Given the description of an element on the screen output the (x, y) to click on. 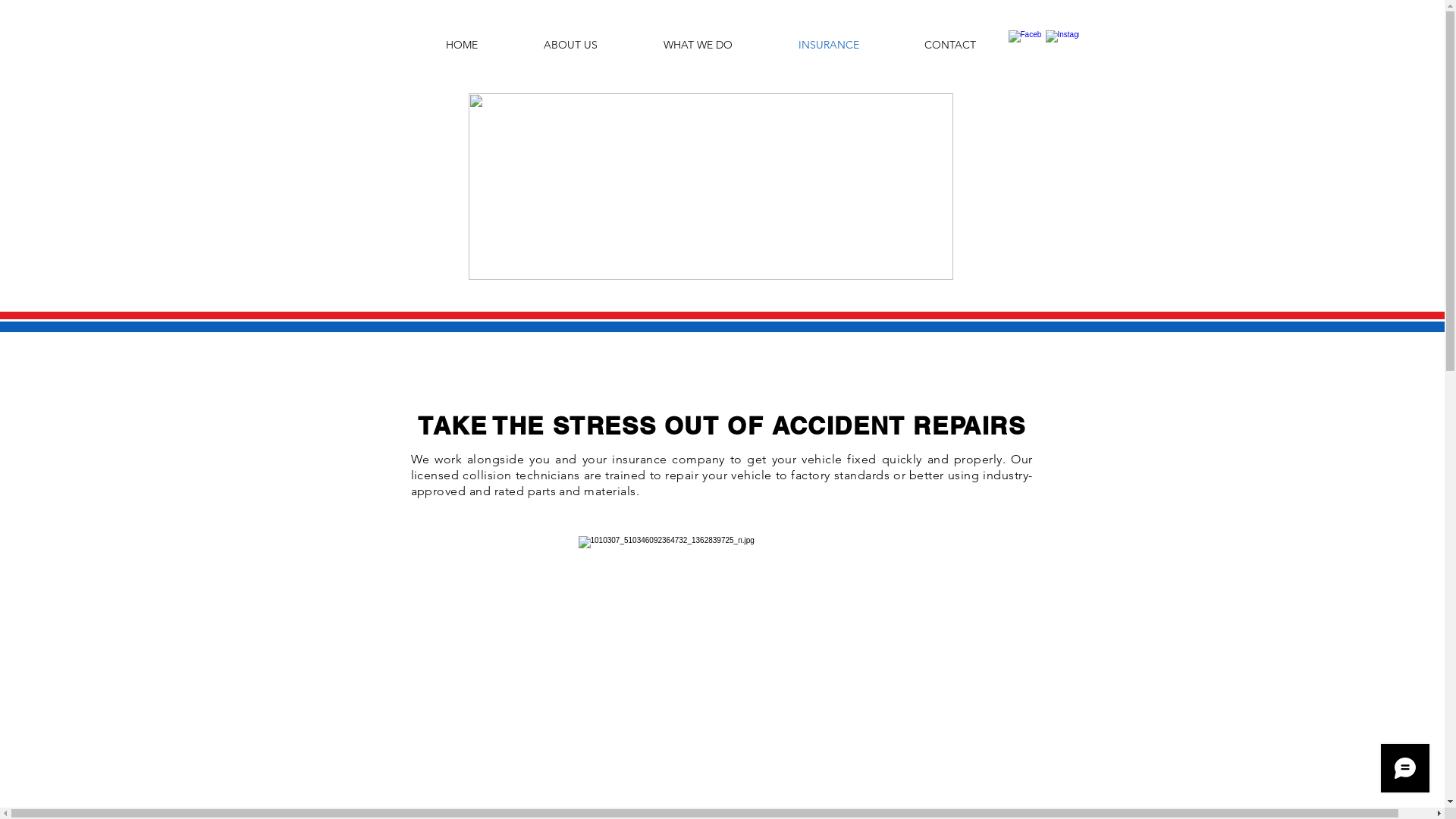
HOME Element type: text (461, 44)
ABOUT US Element type: text (570, 44)
logo2.jpg Element type: hover (710, 186)
INSURANCE Element type: text (828, 44)
Wix Chat Element type: hover (1408, 771)
CONTACT Element type: text (949, 44)
WHAT WE DO Element type: text (697, 44)
